Given the description of an element on the screen output the (x, y) to click on. 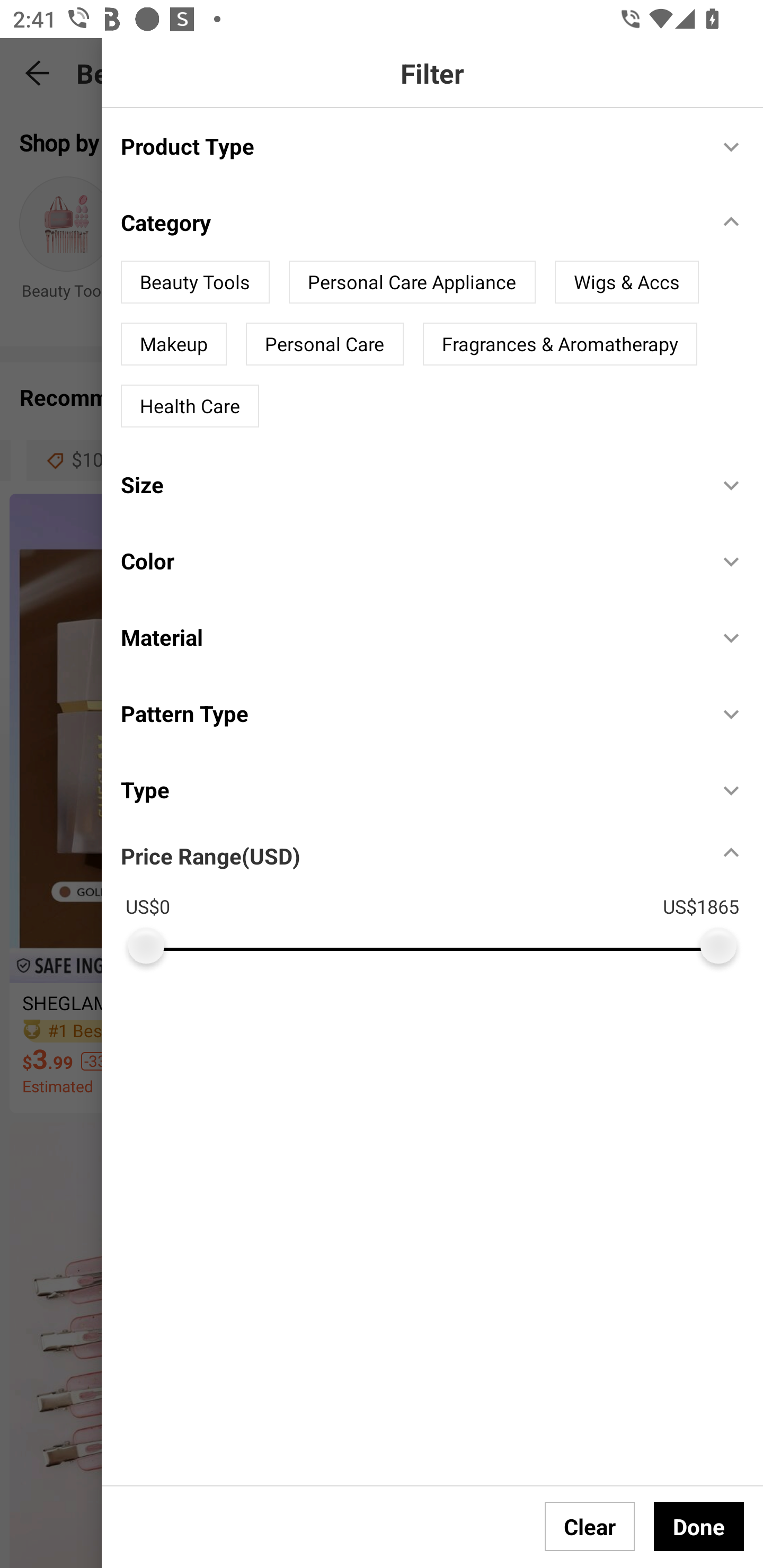
Product Type (409, 145)
Category (409, 222)
Beauty Tools (194, 282)
Personal Care Appliance (411, 282)
Wigs & Accs (626, 282)
Makeup (173, 344)
Personal Care (324, 344)
Fragrances & Aromatherapy (559, 344)
Health Care (189, 406)
Size (409, 484)
Color (409, 561)
Material (409, 636)
Pattern Type (409, 713)
Type (409, 790)
Price Range(USD) US$0 US$1865 (441, 895)
Price Range(USD) (210, 855)
Clear (589, 1526)
Done (698, 1526)
